Given the description of an element on the screen output the (x, y) to click on. 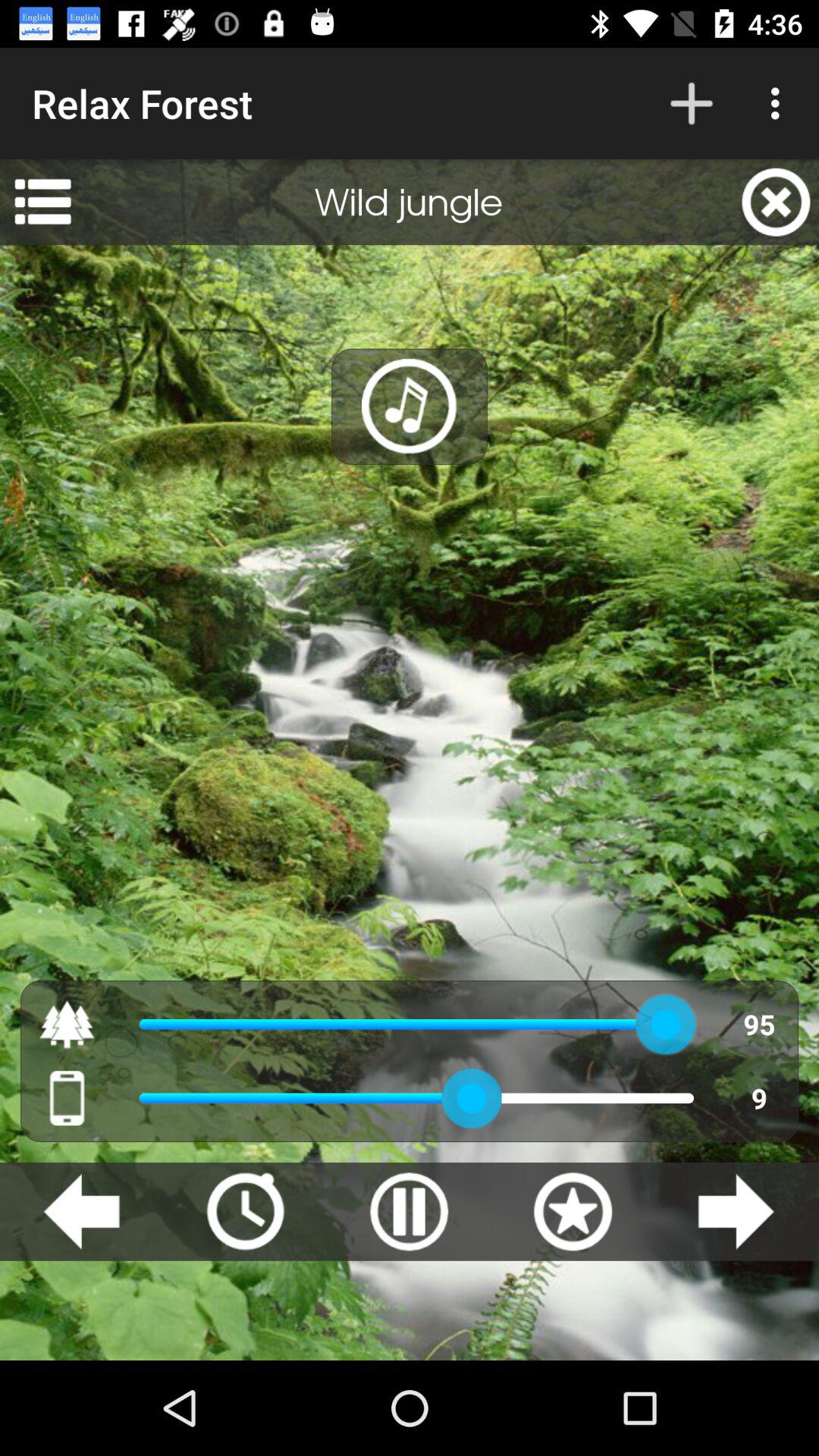
select app next to the wild jungle (42, 202)
